Given the description of an element on the screen output the (x, y) to click on. 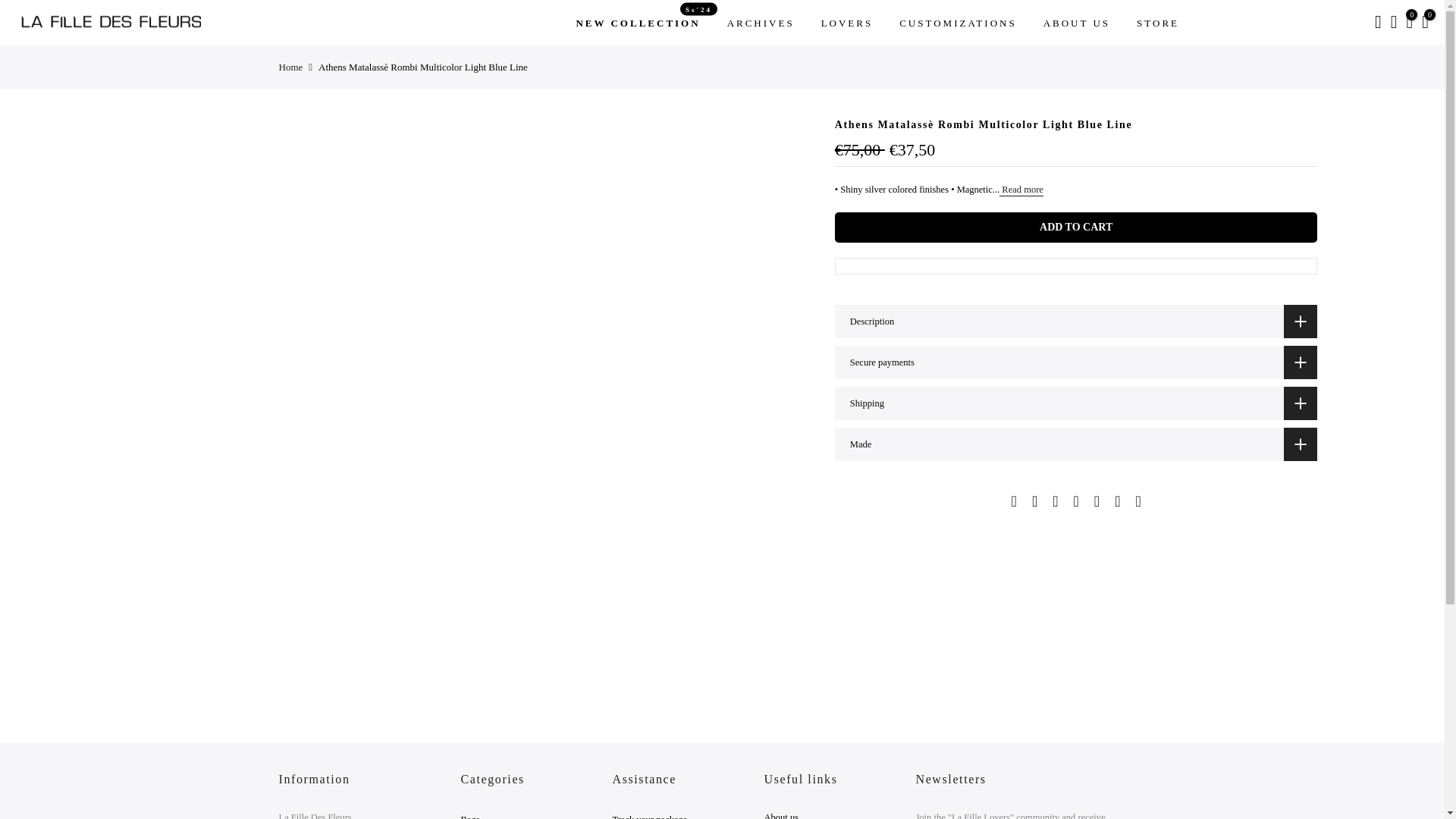
ARCHIVES (760, 22)
Made (1075, 444)
STORE (1158, 22)
Home (637, 22)
CUSTOMIZATIONS (290, 67)
Description (957, 22)
LOVERS (1075, 321)
ADD TO CART (847, 22)
Secure payments (1075, 227)
